Given the description of an element on the screen output the (x, y) to click on. 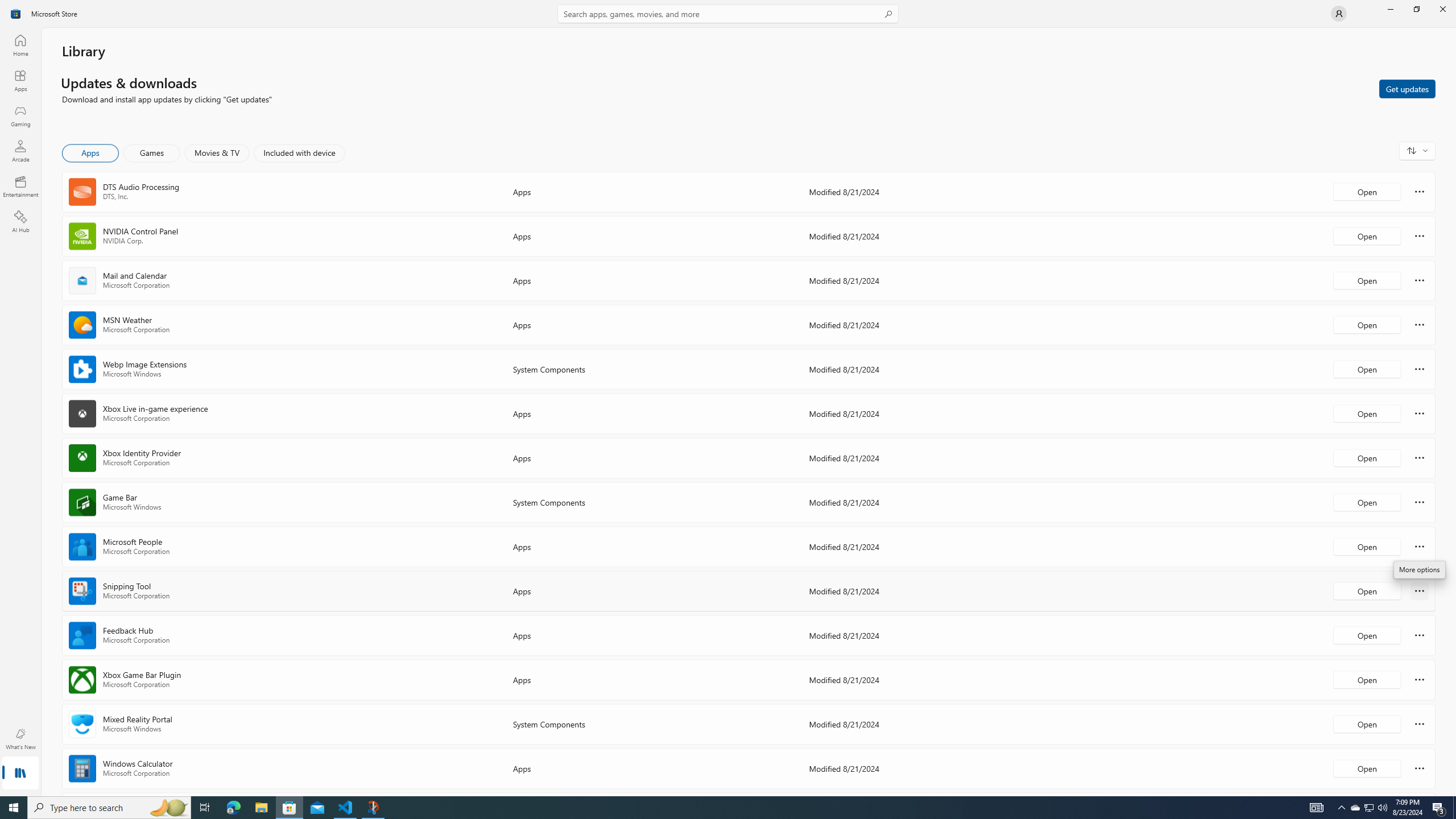
Arcade (20, 150)
What's New (20, 738)
Included with device (299, 153)
Close Microsoft Store (1442, 9)
AutomationID: NavigationControl (728, 398)
Search (727, 13)
Movies & TV (216, 153)
